Given the description of an element on the screen output the (x, y) to click on. 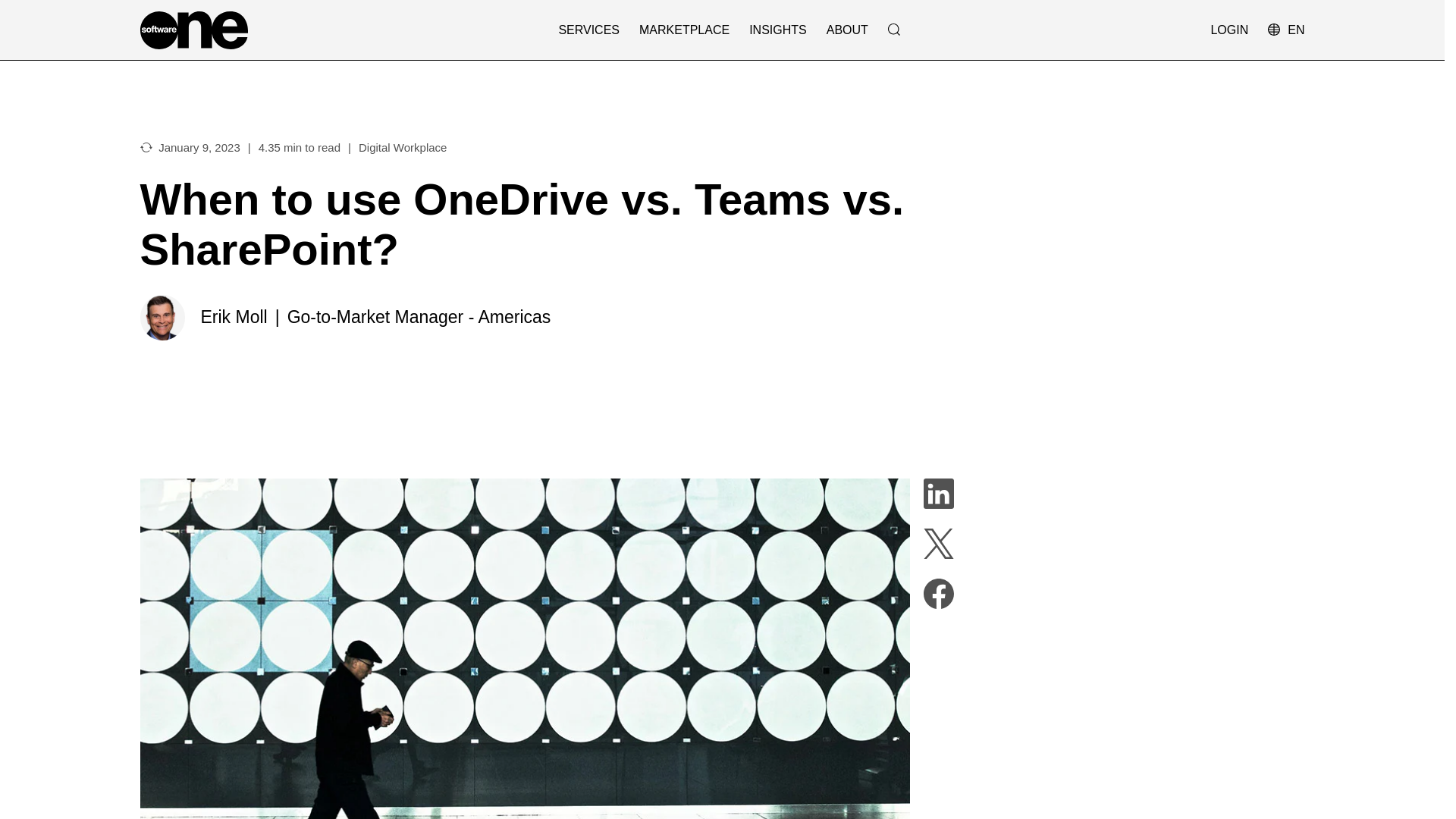
INSIGHTS (777, 30)
SERVICES (588, 30)
MARKETPLACE (683, 30)
ABOUT (846, 30)
